Given the description of an element on the screen output the (x, y) to click on. 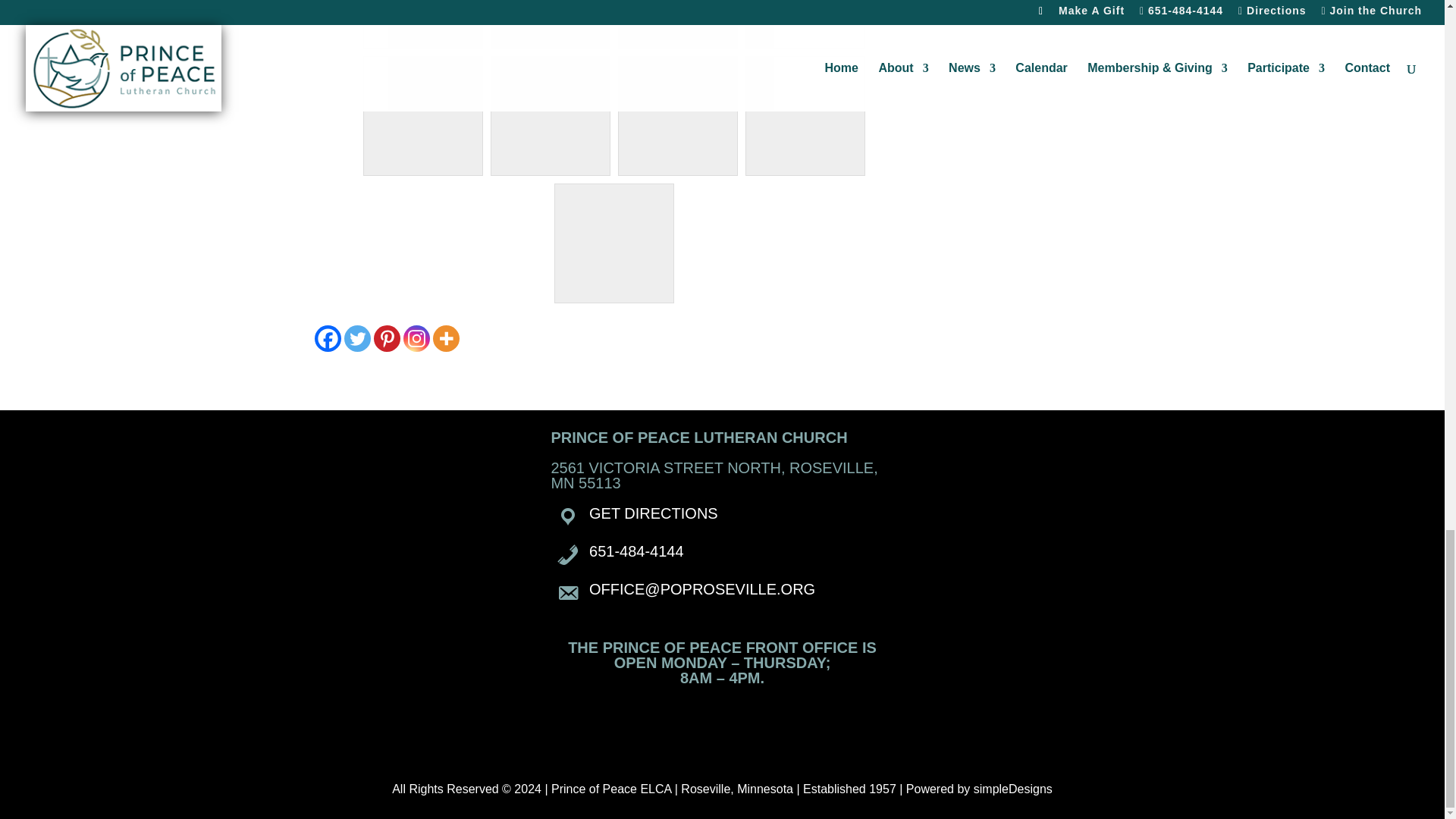
Twitter (357, 338)
Pinterest (385, 338)
More (445, 338)
Instagram (416, 338)
Facebook (327, 338)
